Given the description of an element on the screen output the (x, y) to click on. 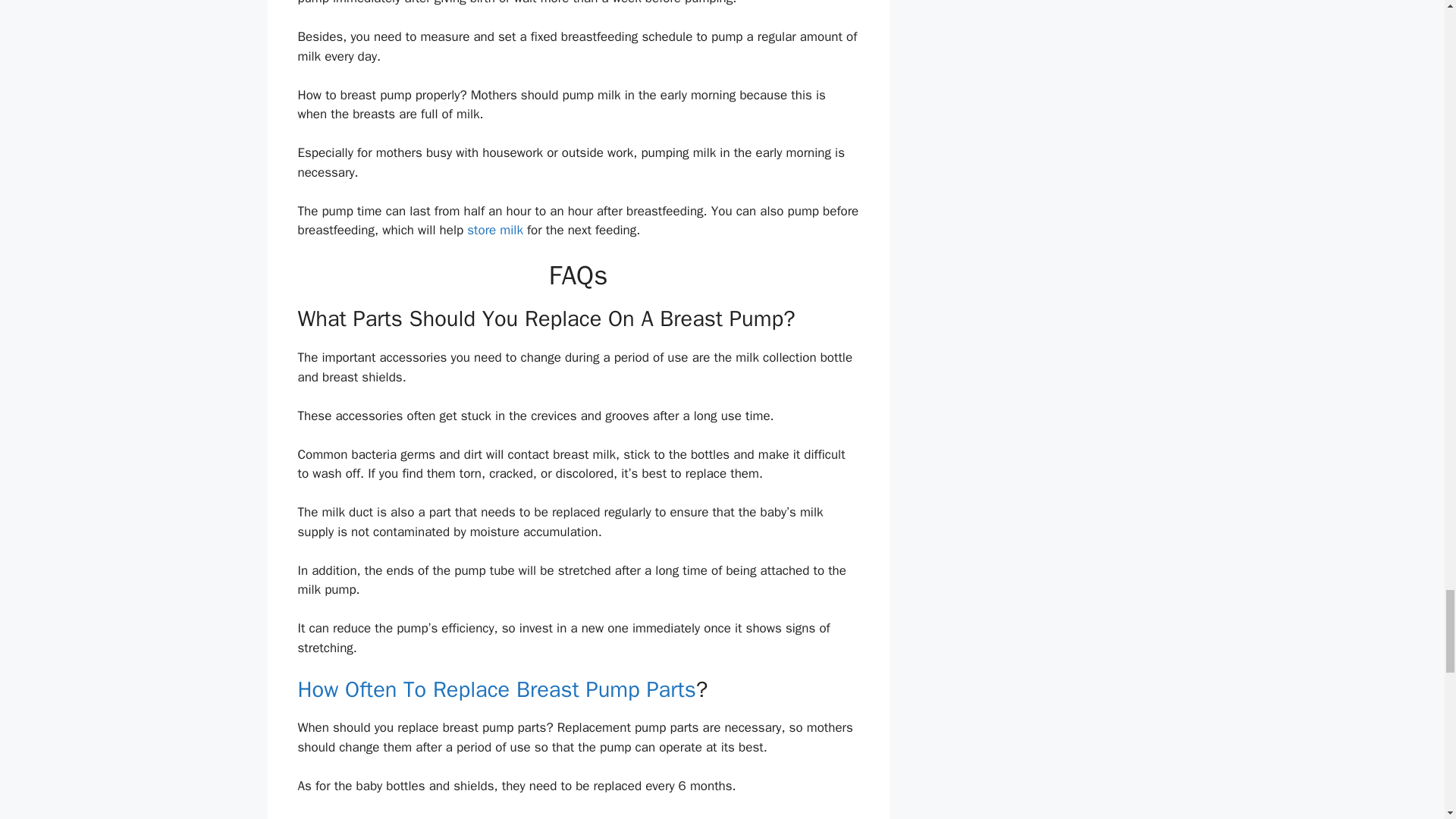
store milk (494, 229)
How Often To Replace Breast Pump Parts (496, 689)
